Given the description of an element on the screen output the (x, y) to click on. 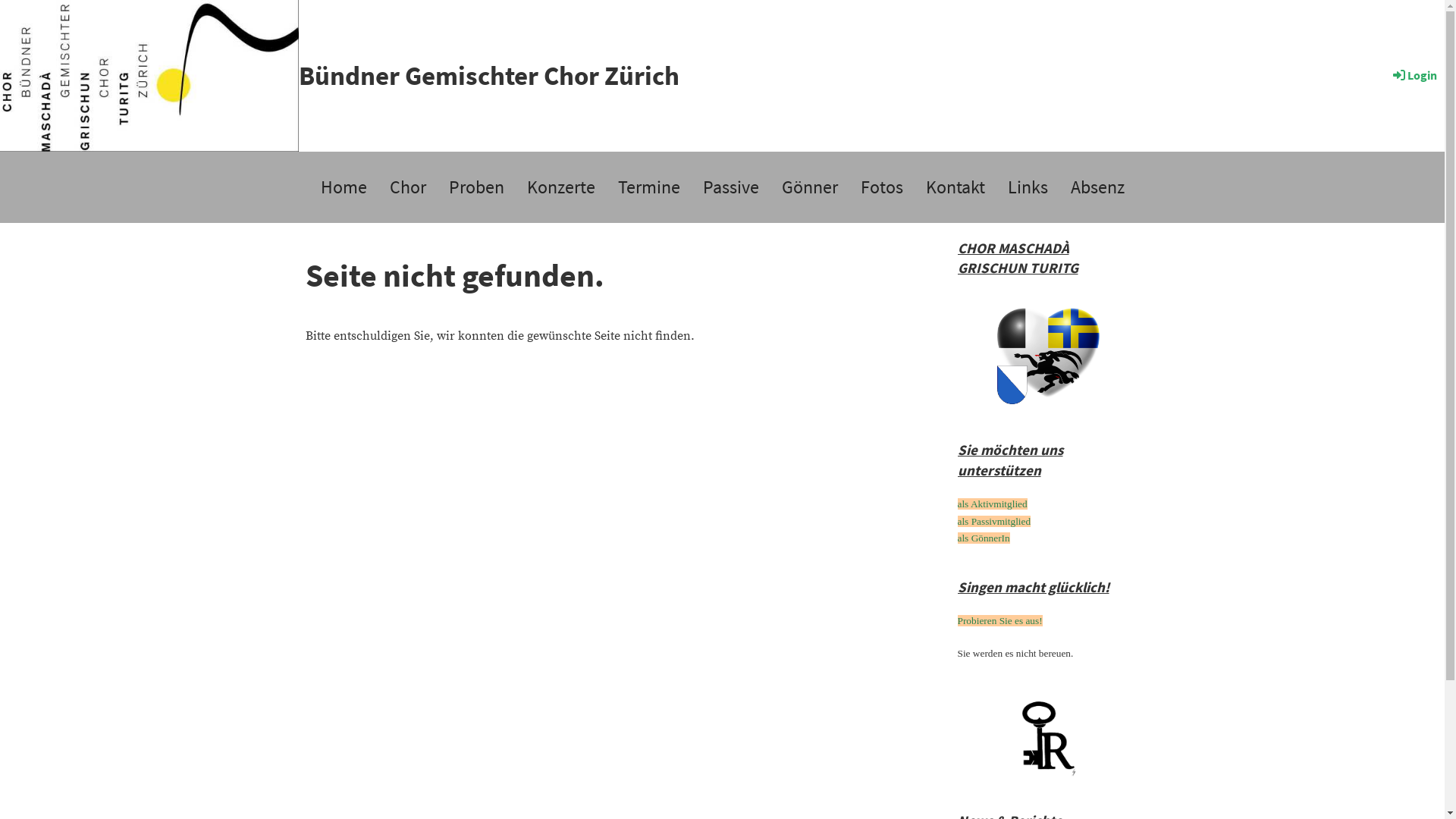
Chor Element type: text (406, 186)
Kontakt Element type: text (955, 186)
Konzerte Element type: text (560, 186)
Login Element type: text (1413, 74)
Probieren Sie es aus! Element type: text (999, 620)
Fotos Element type: text (881, 186)
Termine Element type: text (648, 186)
Links Element type: text (1027, 186)
Home Element type: text (343, 186)
als Aktivmitglied
als Passivmitglied Element type: text (993, 512)
Proben Element type: text (475, 186)
Absenz Element type: text (1096, 186)
Passive Element type: text (730, 186)
